Given the description of an element on the screen output the (x, y) to click on. 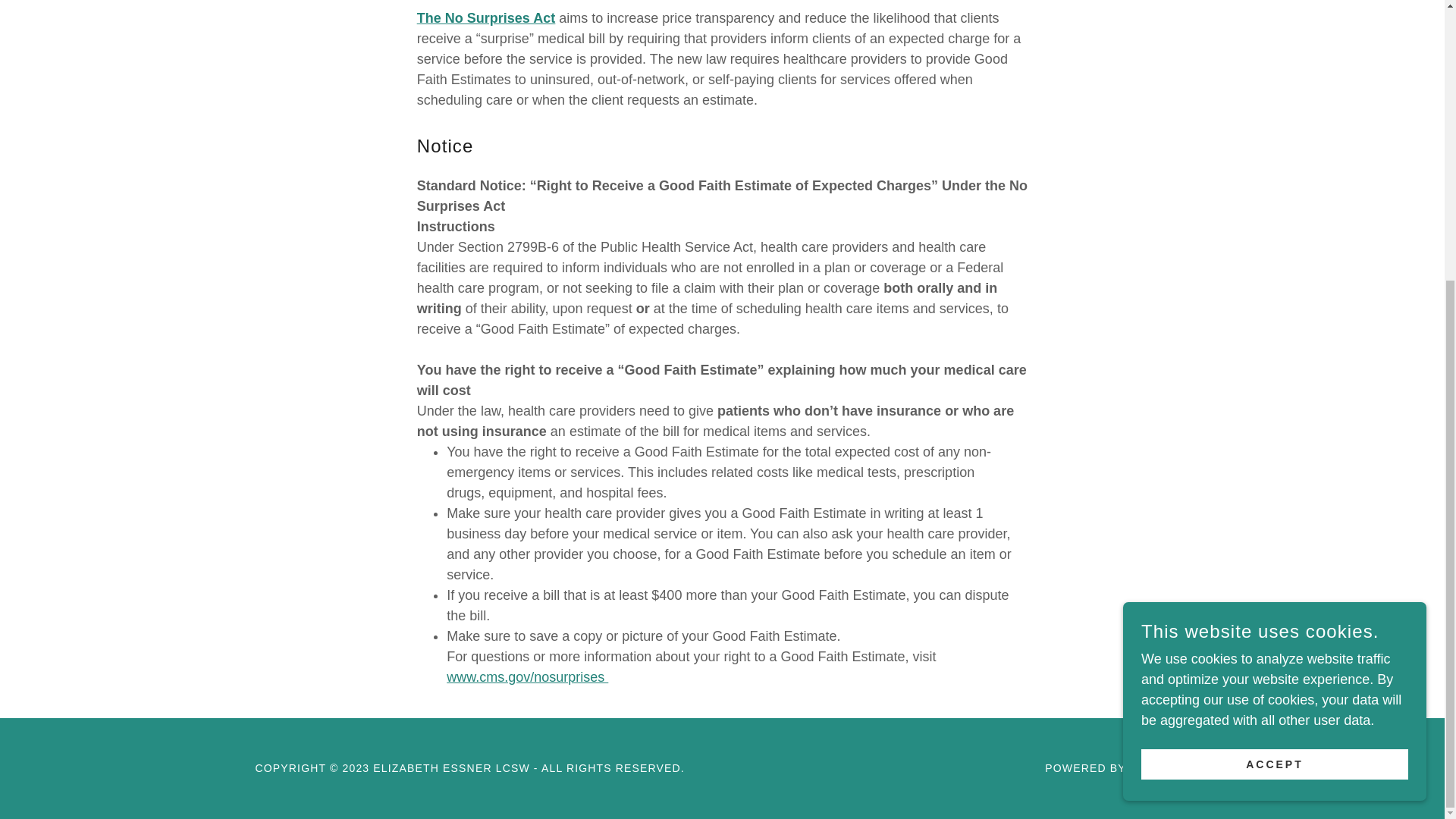
ACCEPT (1274, 346)
GODADDY (1159, 767)
The No Surprises Act (485, 17)
